Given the description of an element on the screen output the (x, y) to click on. 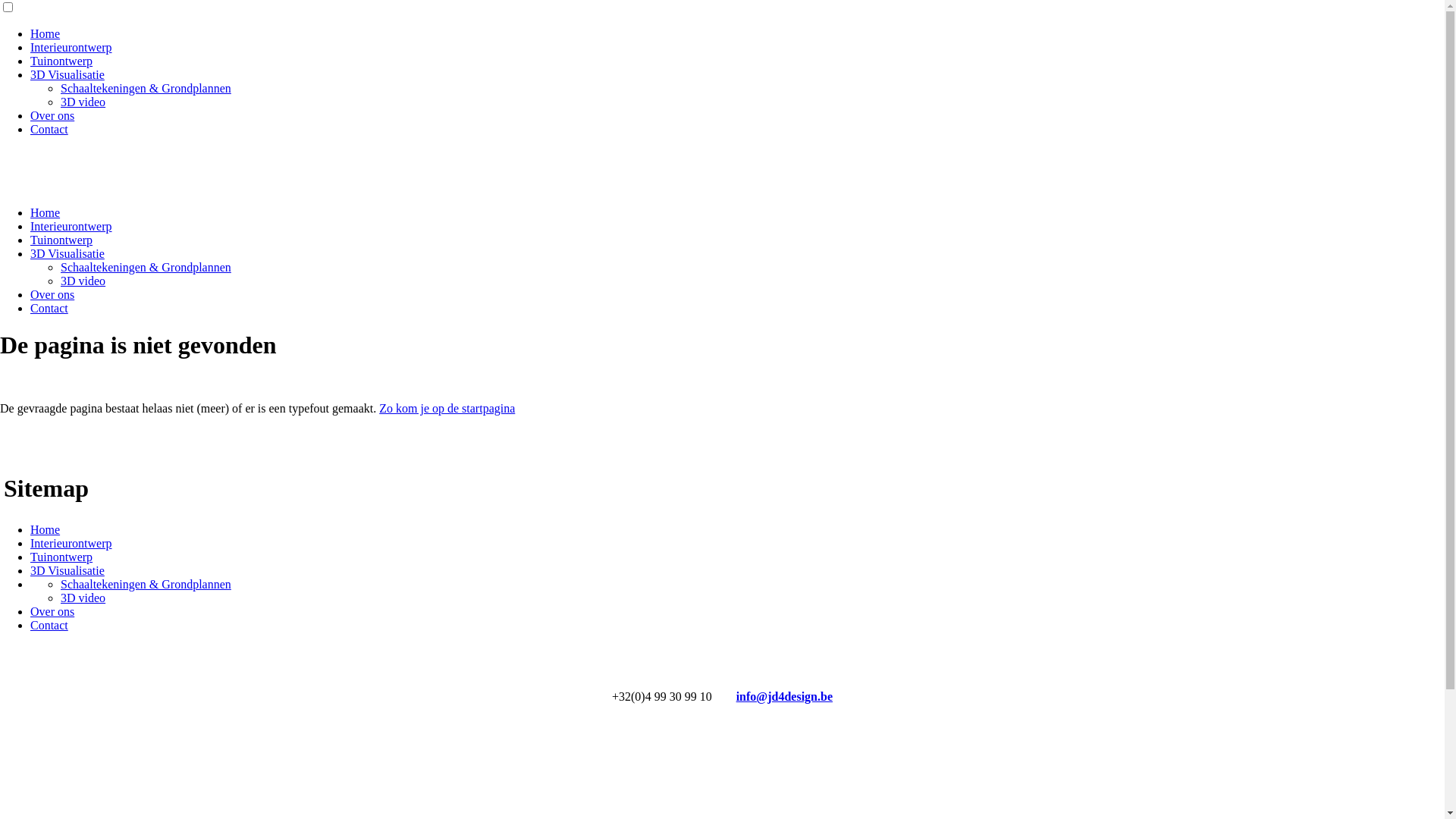
Tuinontwerp Element type: text (61, 556)
3D Visualisatie Element type: text (67, 570)
Home Element type: text (44, 33)
info@jd4design.be Element type: text (784, 696)
3D Visualisatie Element type: text (67, 74)
Over ons Element type: text (52, 611)
Schaaltekeningen & Grondplannen Element type: text (145, 266)
Over ons Element type: text (52, 115)
Schaaltekeningen & Grondplannen Element type: text (145, 87)
Tuinontwerp Element type: text (61, 239)
Contact Element type: text (49, 624)
Zo kom je op de startpagina Element type: text (446, 407)
3D video Element type: text (82, 280)
Contact Element type: text (49, 128)
Contact Element type: text (49, 307)
Home Element type: text (44, 212)
Schaaltekeningen & Grondplannen Element type: text (145, 583)
Home Element type: text (44, 529)
3D video Element type: text (82, 101)
Tuinontwerp Element type: text (61, 60)
Interieurontwerp Element type: text (71, 46)
3D Visualisatie Element type: text (67, 253)
Interieurontwerp Element type: text (71, 225)
Over ons Element type: text (52, 294)
3D video Element type: text (82, 597)
Interieurontwerp Element type: text (71, 542)
